Given the description of an element on the screen output the (x, y) to click on. 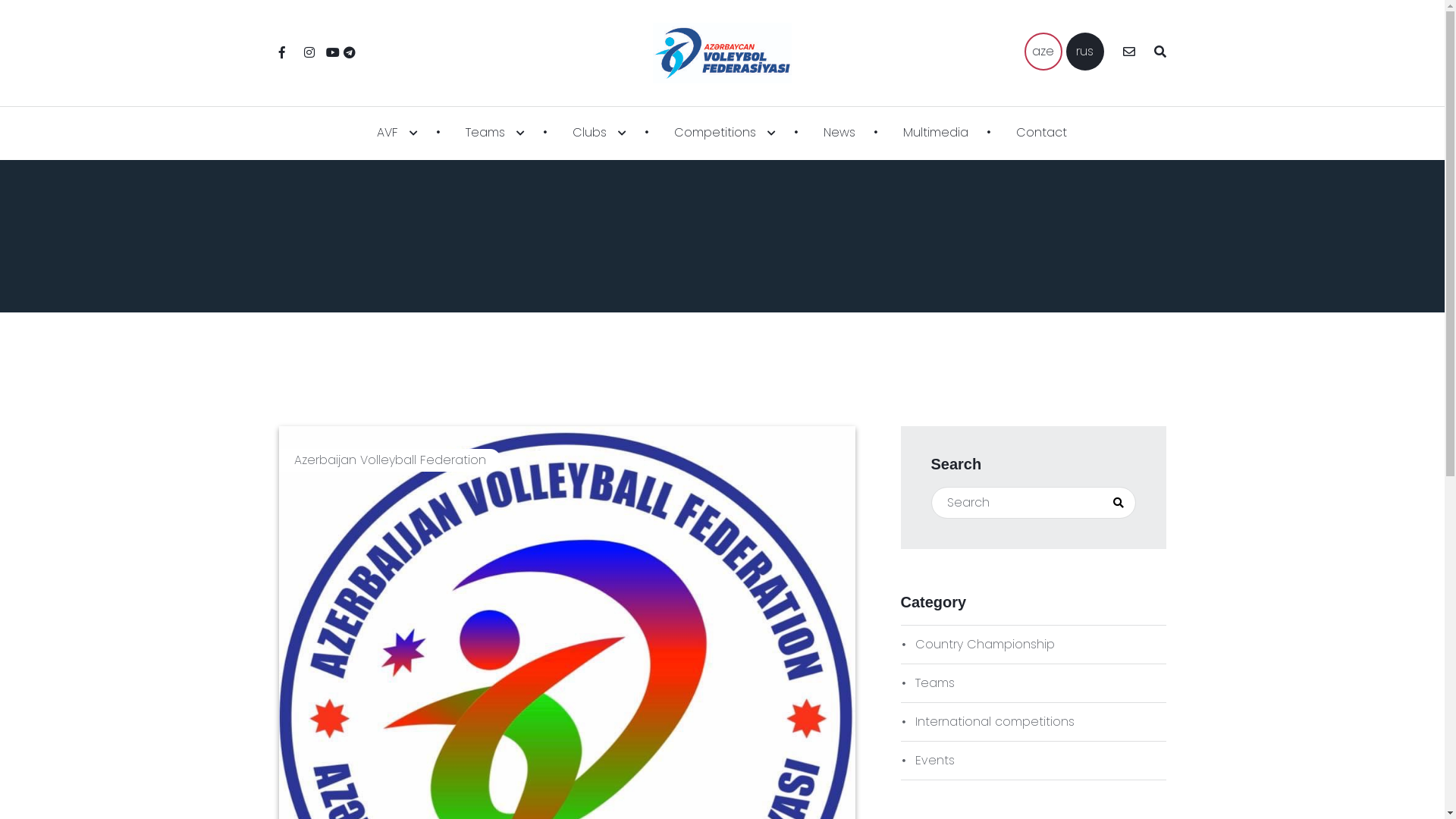
instagram Element type: hover (308, 52)
AVF Element type: text (396, 133)
aze Element type: text (1042, 51)
Country Championship Element type: text (1033, 644)
International competitions Element type: text (1033, 721)
Competitions Element type: text (724, 133)
Teams Element type: text (1033, 683)
facebook Element type: hover (282, 52)
Teams Element type: text (494, 133)
Azerbaijan Volleyball Federation Element type: text (390, 459)
Contact Element type: text (1041, 132)
Multimedia Element type: text (935, 132)
Clubs Element type: text (599, 133)
rus Element type: text (1085, 51)
Search Element type: text (1118, 502)
News Element type: text (839, 132)
Events Element type: text (1033, 760)
